Given the description of an element on the screen output the (x, y) to click on. 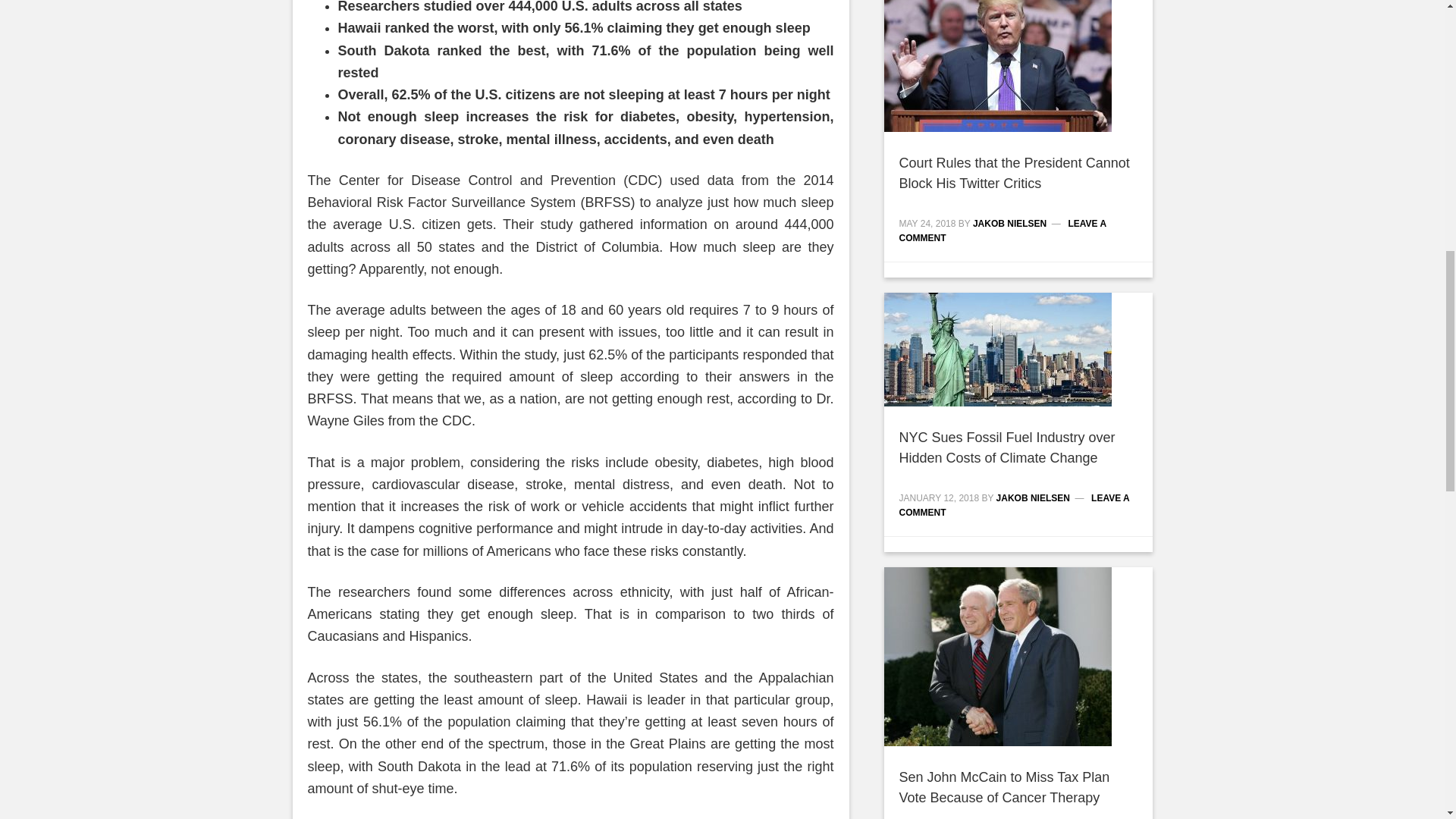
LEAVE A COMMENT (1002, 231)
JAKOB NIELSEN (1009, 223)
